Given the description of an element on the screen output the (x, y) to click on. 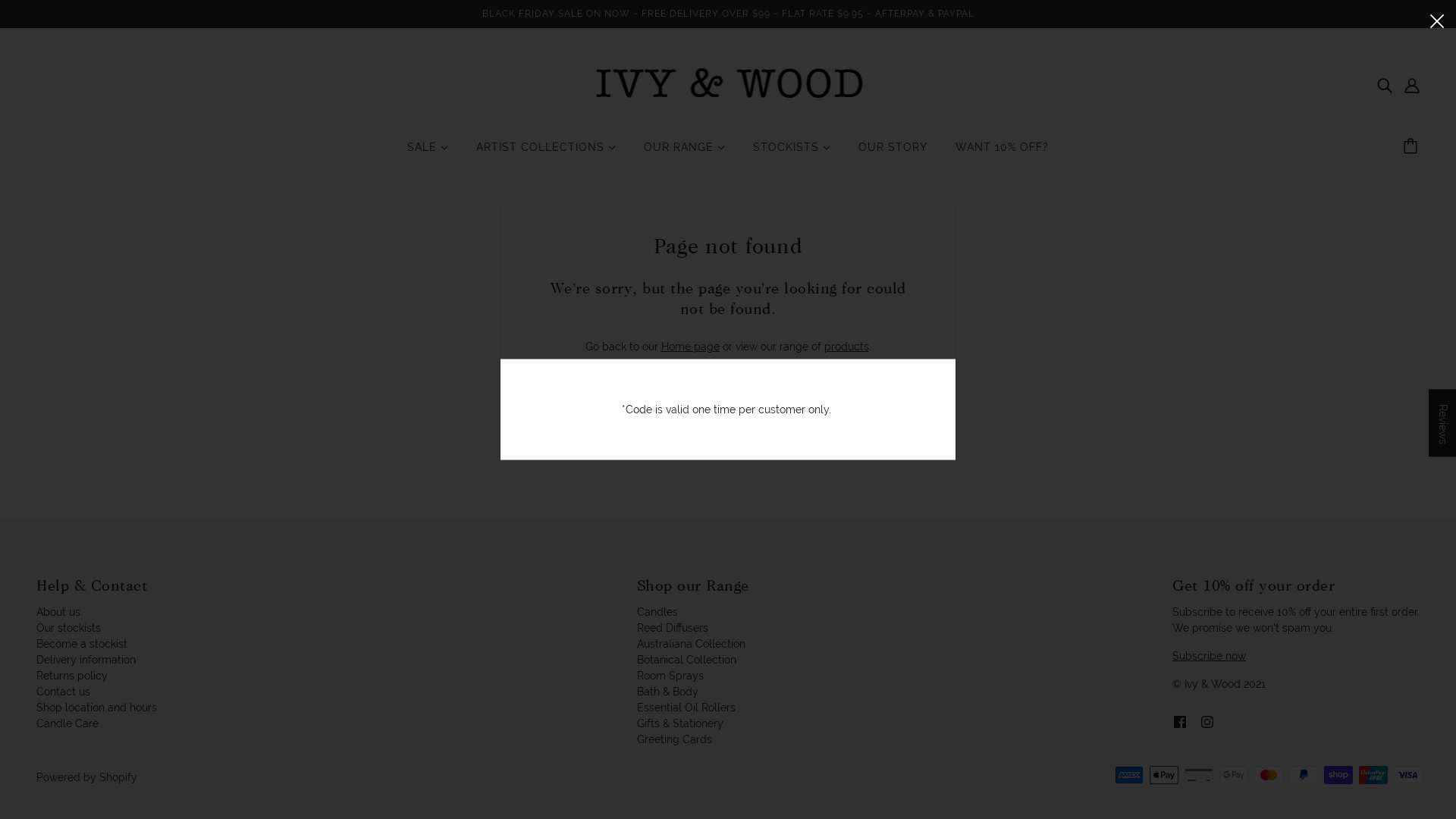
Returns policy Element type: text (71, 674)
OUR RANGE Element type: text (684, 152)
Reed Diffusers Element type: text (672, 627)
Bath & Body Element type: text (667, 691)
Become a stockist Element type: text (81, 643)
Candles Element type: text (657, 611)
Botanical Collection Element type: text (686, 659)
Powered by Shopify Element type: text (86, 776)
Shop location and hours Element type: text (96, 706)
Our stockists Element type: text (68, 627)
OUR STORY Element type: text (892, 152)
Gifts & Stationery Element type: text (680, 723)
About us Element type: text (58, 611)
Contact us Element type: text (63, 691)
Ivy & Wood Element type: hover (727, 84)
Subscribe now Element type: text (1208, 655)
STOCKISTS Element type: text (791, 152)
ARTIST COLLECTIONS Element type: text (545, 152)
Candle Care Element type: text (67, 723)
Delivery information Element type: text (85, 659)
Home page Element type: text (690, 346)
Greeting Cards Element type: text (674, 738)
products Element type: text (845, 346)
SALE Element type: text (427, 152)
WANT 10% OFF? Element type: text (1001, 152)
Essential Oil Rollers Element type: text (686, 706)
Room Sprays Element type: text (670, 674)
Australiana Collection Element type: text (691, 643)
